Given the description of an element on the screen output the (x, y) to click on. 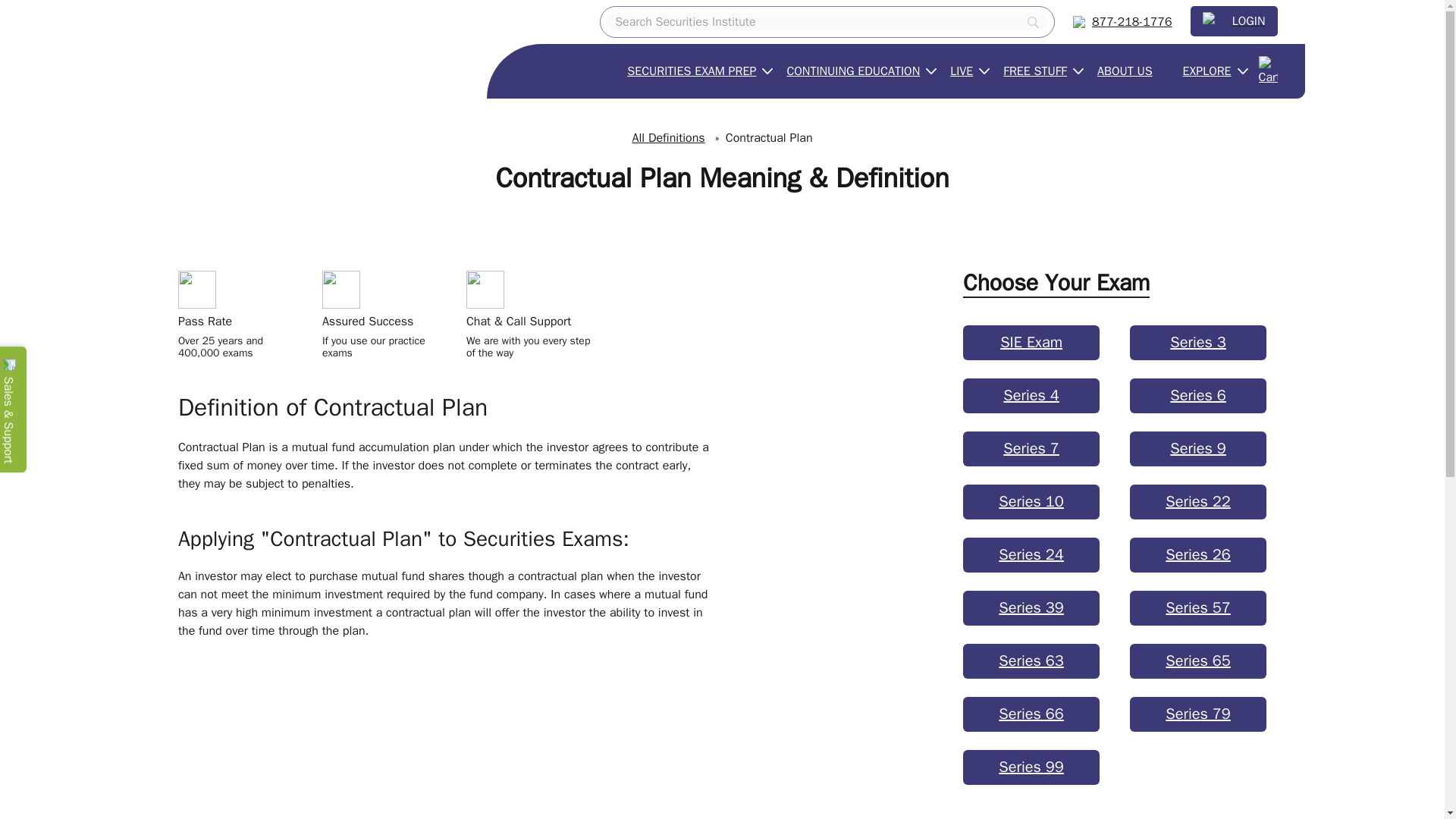
Search Securities Institute (827, 22)
LOGIN (1234, 21)
SECURITIES EXAM PREP (691, 70)
CONTINUING EDUCATION (852, 70)
877-218-1776 (1122, 21)
LOGIN (1234, 20)
SECURITIES EXAM PREP (691, 70)
